Given the description of an element on the screen output the (x, y) to click on. 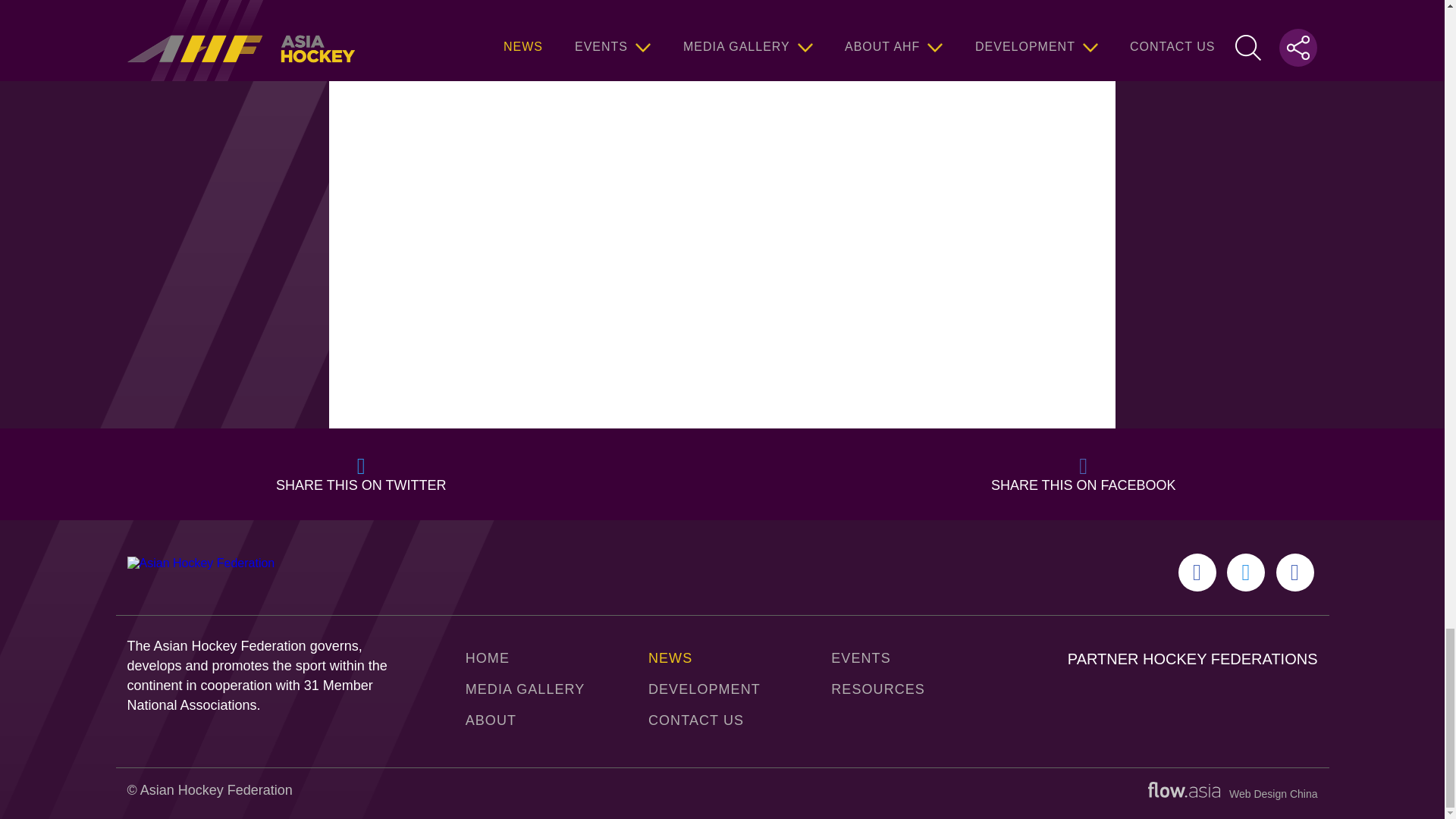
Layer 1 (1184, 789)
